Given the description of an element on the screen output the (x, y) to click on. 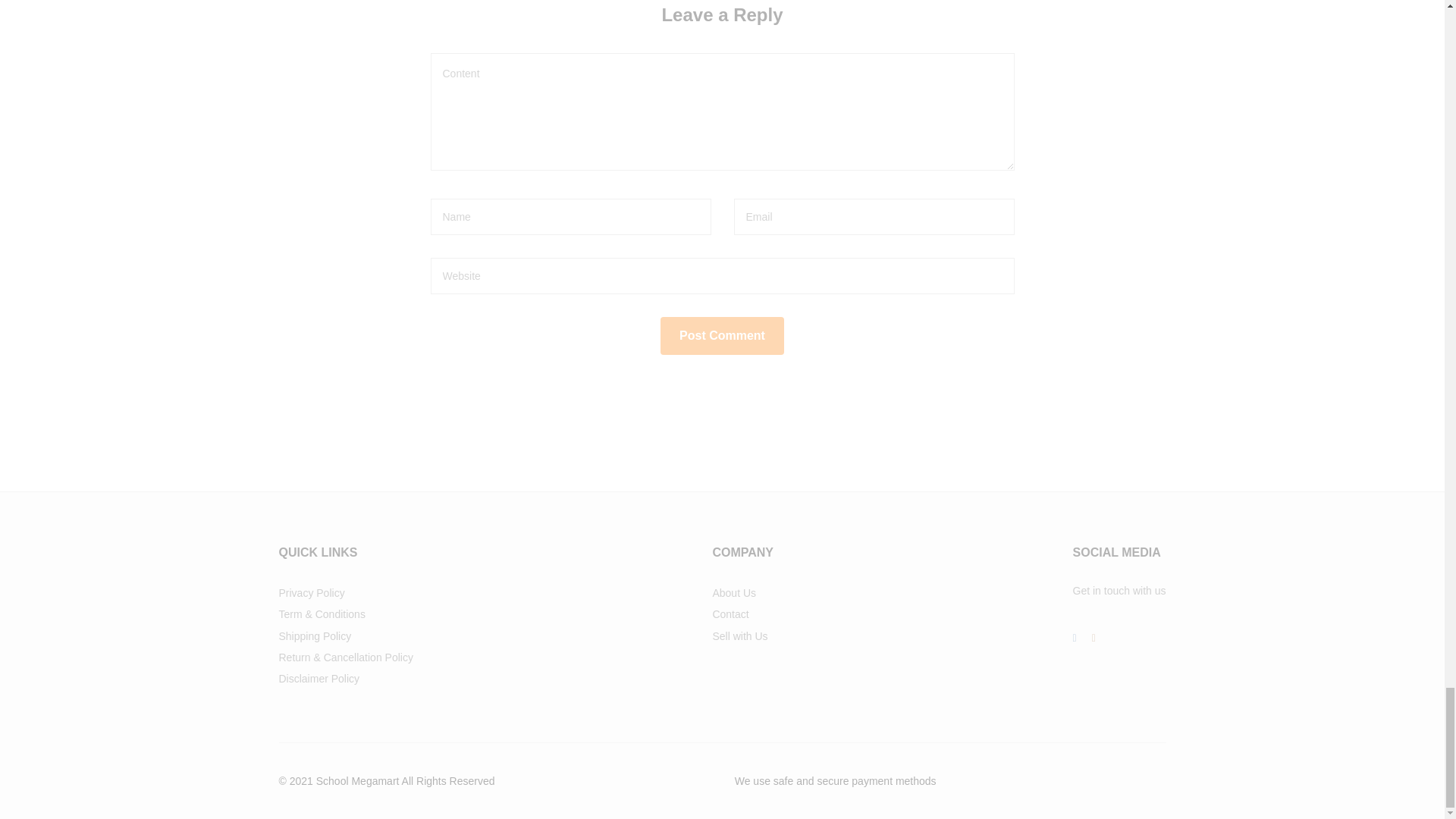
Post Comment (722, 335)
Facebook (1074, 637)
Instagram (1093, 637)
